Given the description of an element on the screen output the (x, y) to click on. 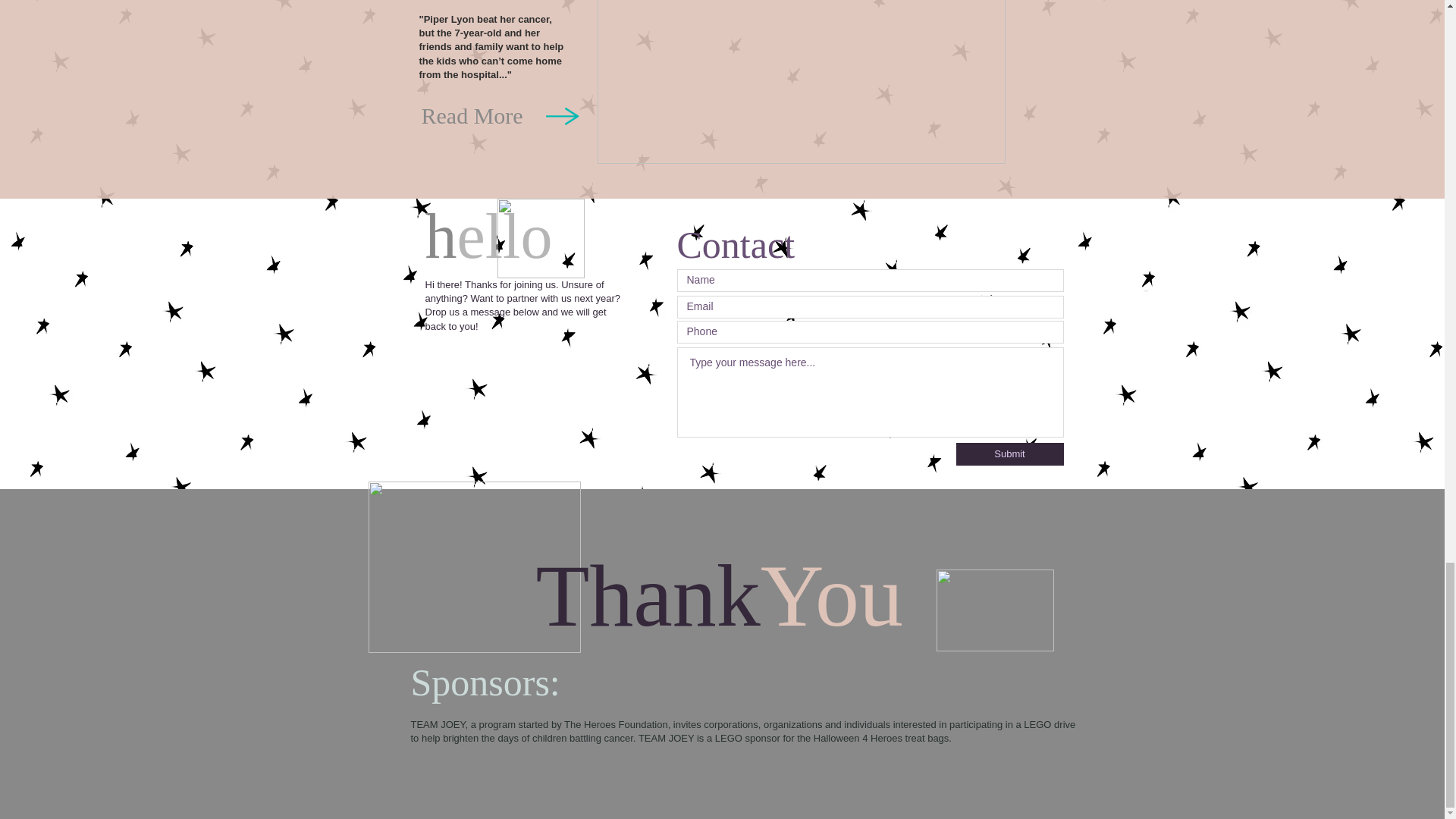
Riley Article.png (801, 81)
Submit (1008, 454)
Sponsors:  (490, 681)
